Given the description of an element on the screen output the (x, y) to click on. 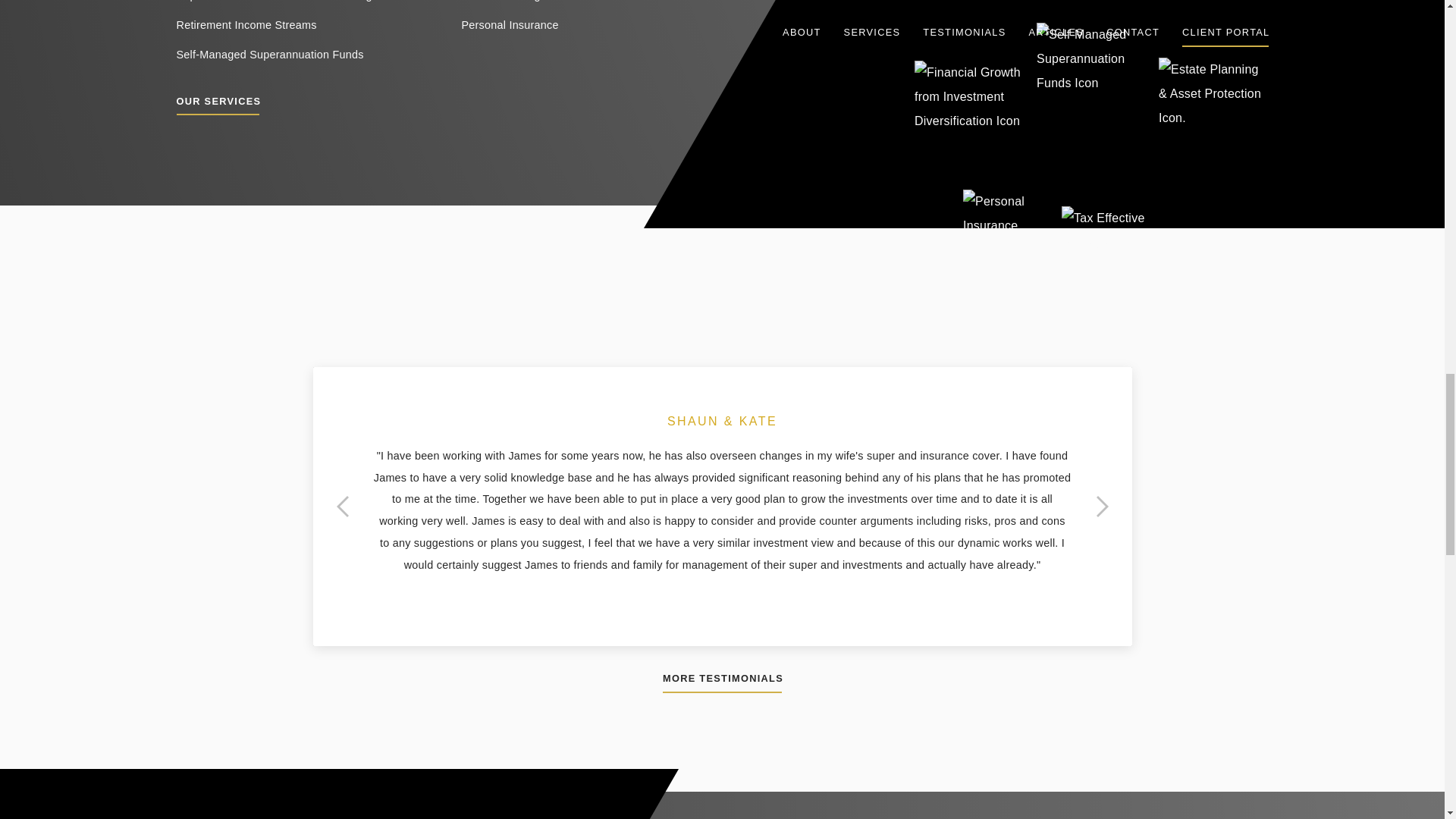
OUR SERVICES (217, 103)
MORE TESTIMONIALS (721, 680)
